Given the description of an element on the screen output the (x, y) to click on. 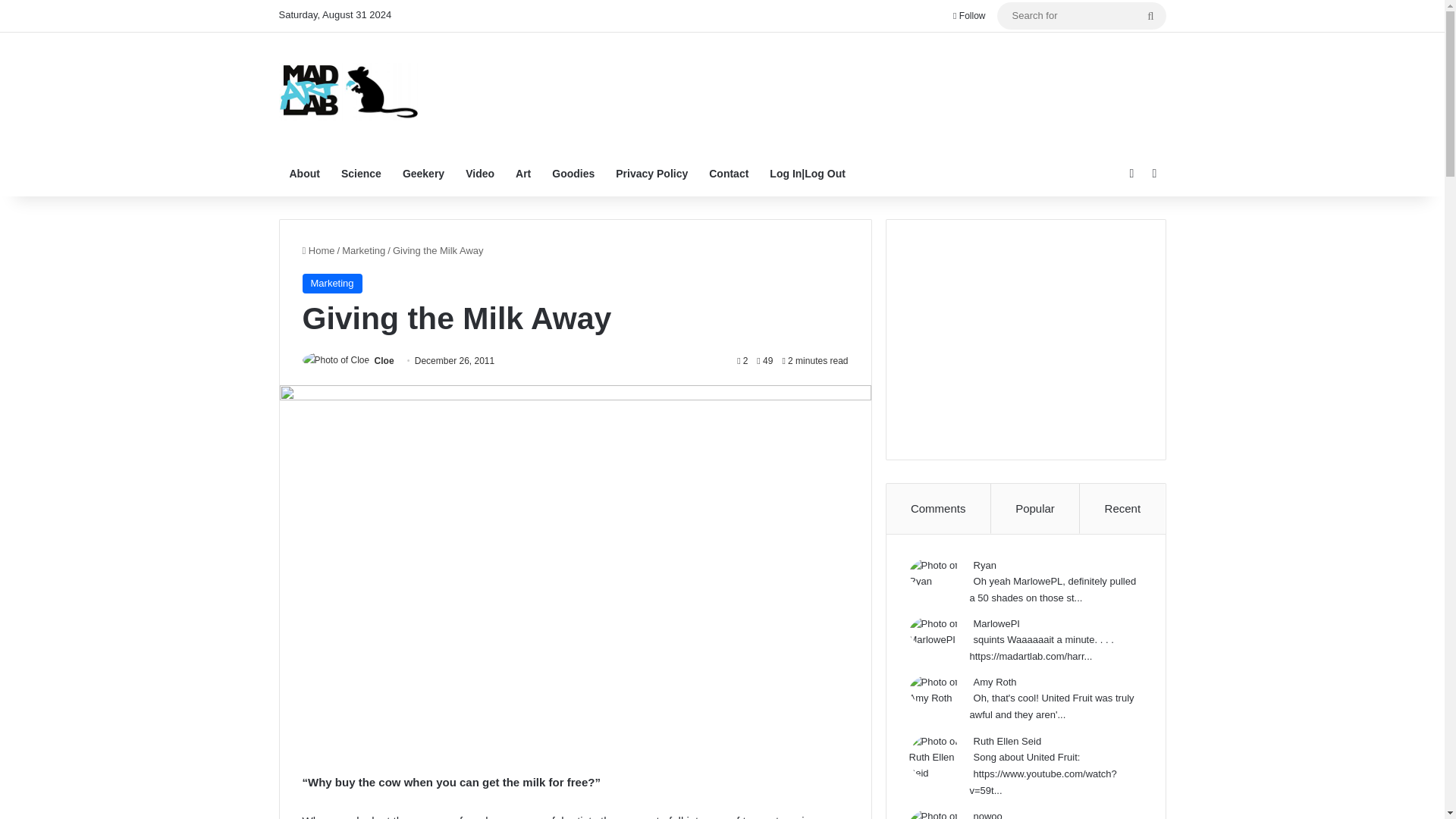
Marketing (331, 283)
Marketing (363, 250)
Mad Art Lab (349, 91)
Privacy Policy (651, 173)
Science (360, 173)
Geekery (422, 173)
Home (317, 250)
Cloe (384, 360)
Follow (968, 15)
Video (479, 173)
